Given the description of an element on the screen output the (x, y) to click on. 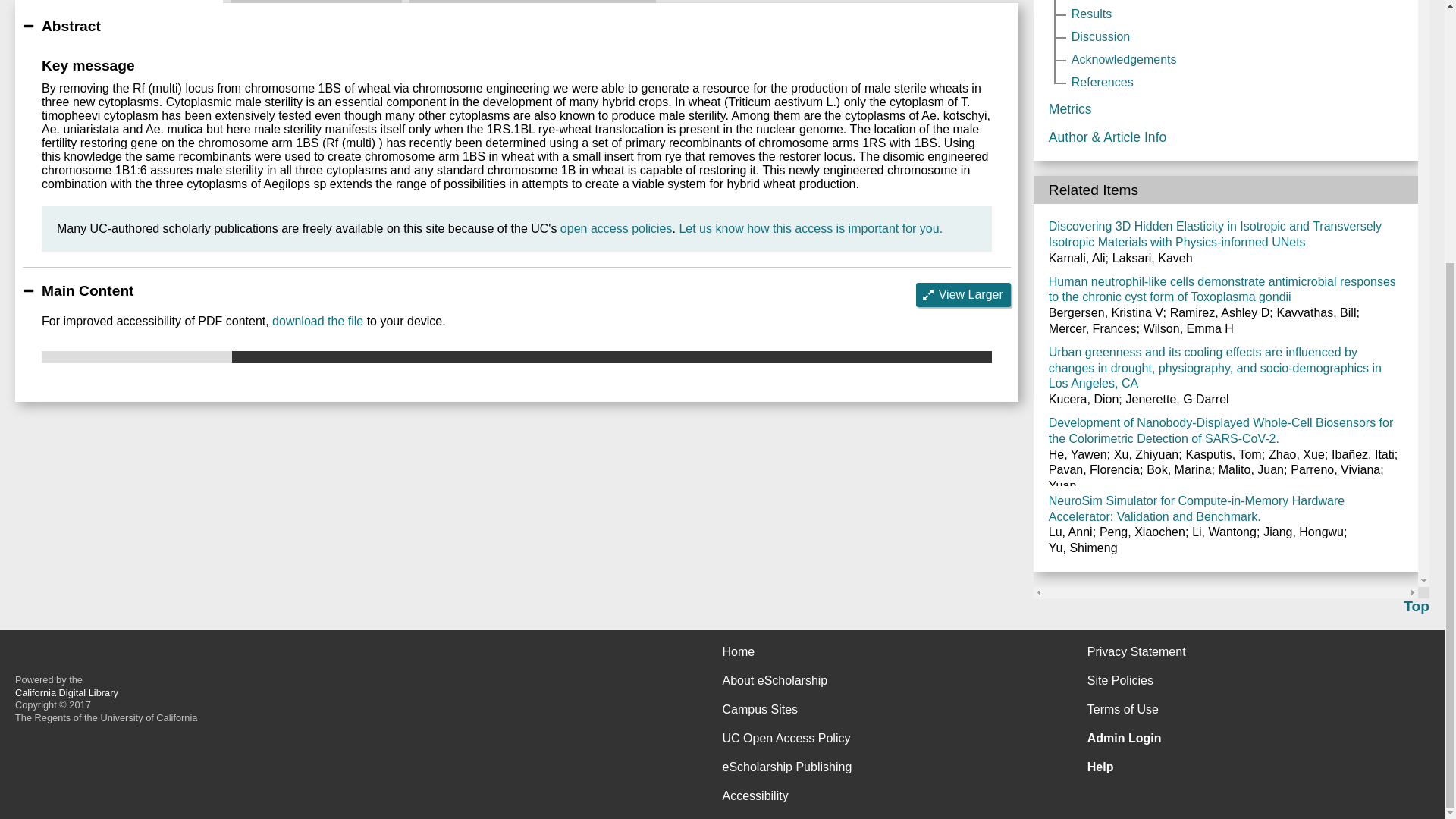
Metrics (315, 1)
View Larger (962, 294)
open access policies (616, 228)
Main Content (118, 1)
Let us know how this access is important for you. (810, 228)
download the file (317, 320)
